Given the description of an element on the screen output the (x, y) to click on. 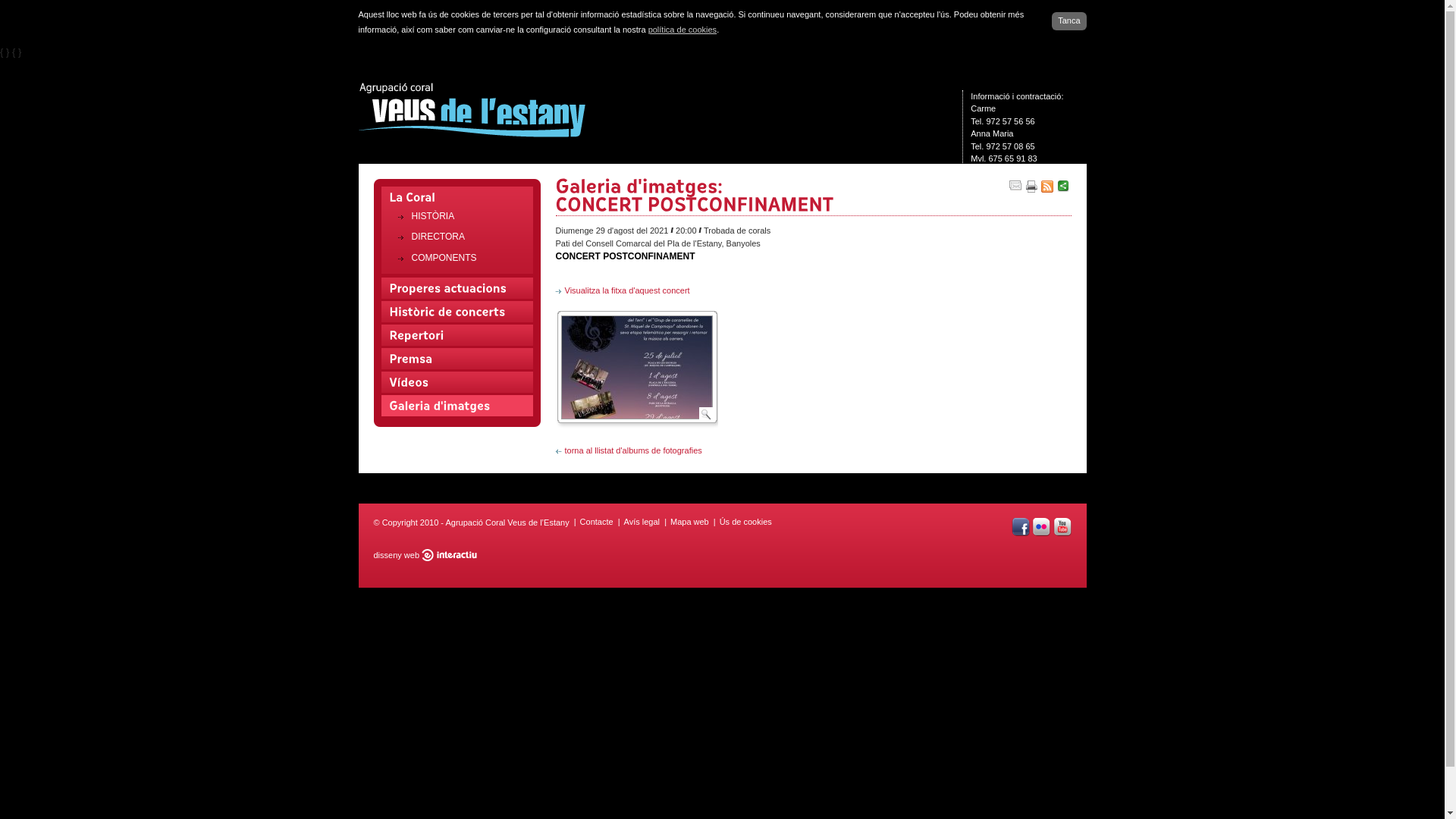
Visualitza la fitxa d'aquest concert Element type: text (622, 289)
COMPONENTS Element type: text (463, 257)
  Element type: text (636, 415)
Mapa web Element type: text (689, 522)
Contacte Element type: text (596, 522)
torna al llistat d'albums de fotografies Element type: text (628, 450)
coral@veusdelestany.cat Element type: text (1016, 170)
DIRECTORA Element type: text (463, 237)
Recomana-ho a un amic Element type: hover (1013, 185)
disseny web Element type: text (396, 555)
Tanca Element type: text (1068, 21)
